Given the description of an element on the screen output the (x, y) to click on. 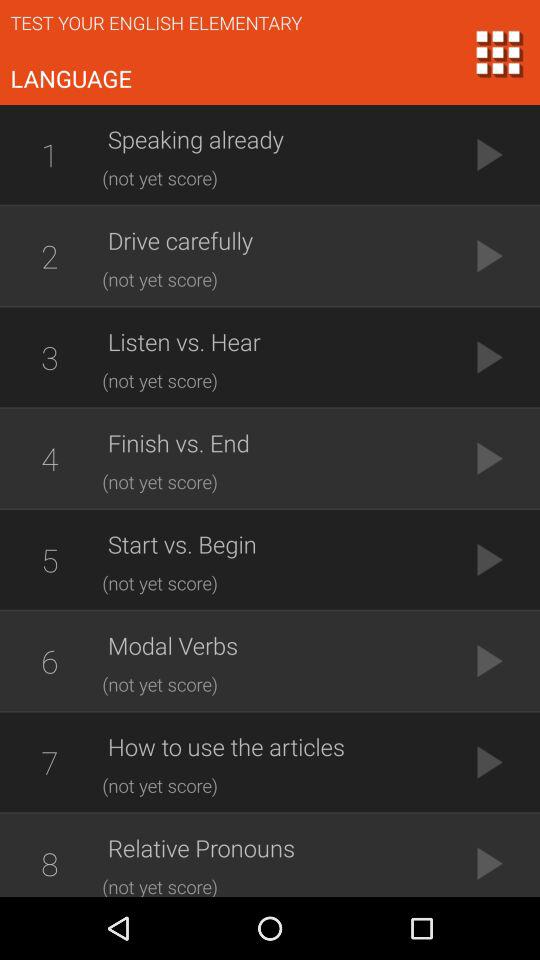
select app next to the  relative pronouns item (49, 858)
